Given the description of an element on the screen output the (x, y) to click on. 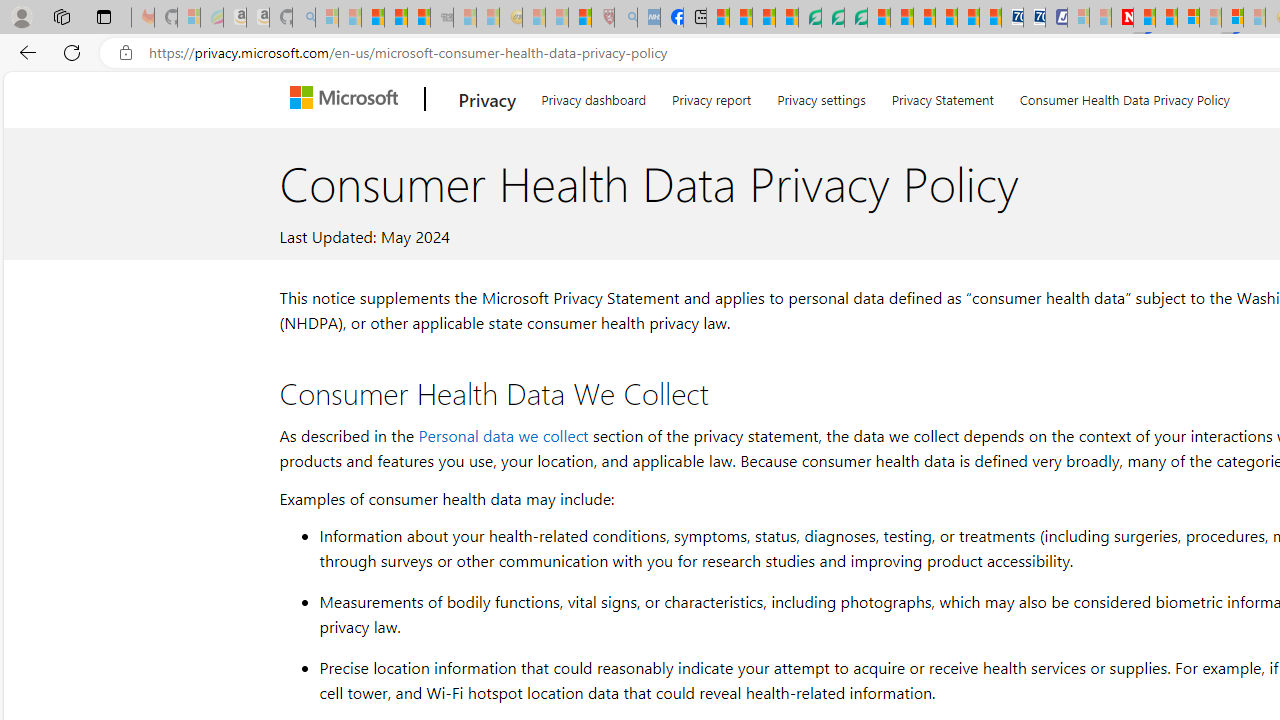
Consumer Health Data Privacy Policy (1124, 96)
Privacy report (712, 96)
Consumer Health Data Privacy Policy (1124, 96)
LendingTree - Compare Lenders (809, 17)
